Given the description of an element on the screen output the (x, y) to click on. 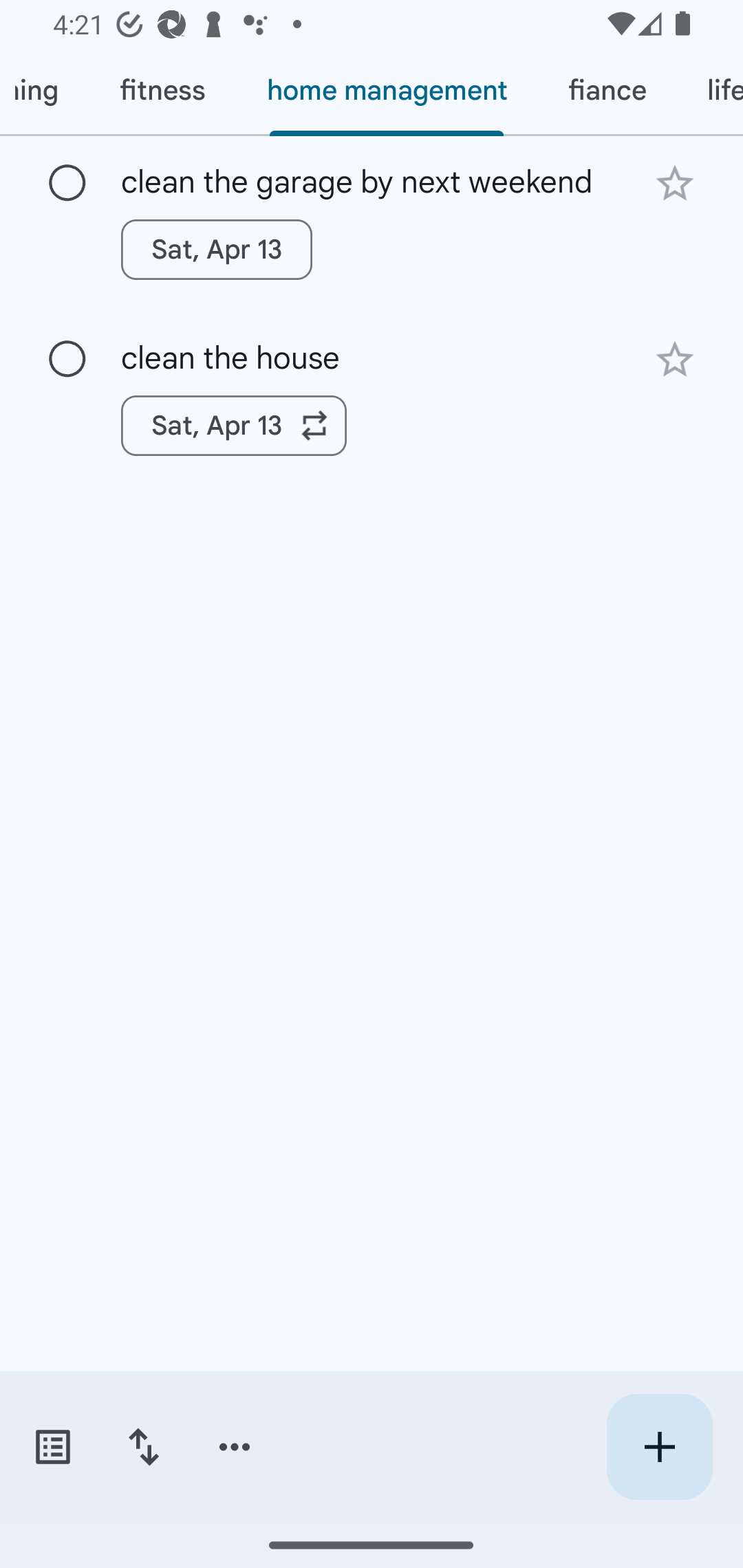
holiday planning (44, 90)
fitness (162, 90)
fiance (606, 90)
Add star (674, 182)
Mark as complete (67, 183)
Sat, Apr 13 (216, 248)
Add star (674, 358)
Mark as complete (67, 359)
Sat, Apr 13 (233, 425)
Switch task lists (52, 1447)
Create new task (659, 1446)
Change sort order (143, 1446)
More options (234, 1446)
